Given the description of an element on the screen output the (x, y) to click on. 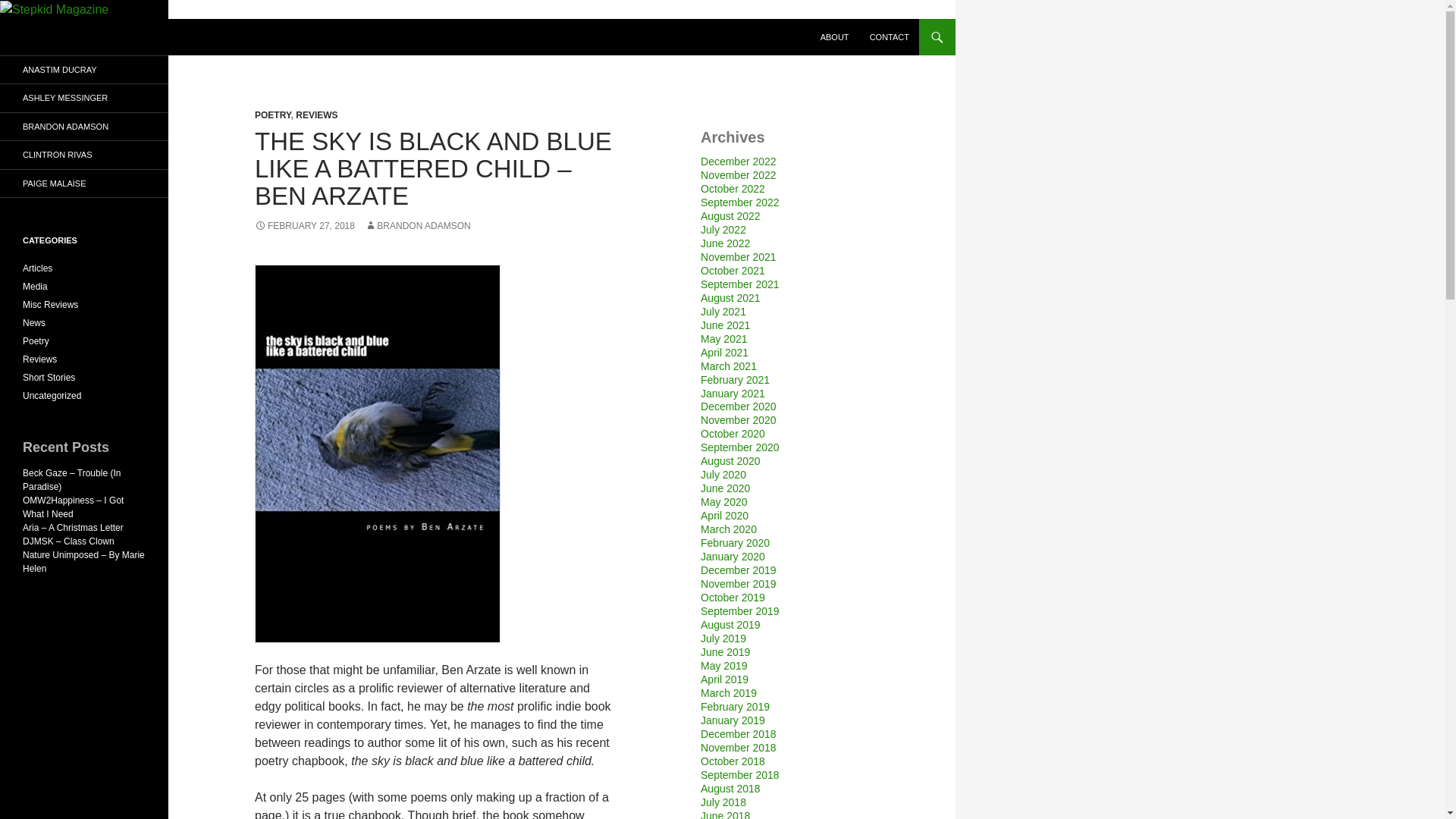
March 2021 (728, 366)
August 2022 (730, 215)
August 2021 (730, 297)
February 2021 (735, 379)
Stepkid Magazine (79, 36)
BRANDON ADAMSON (417, 225)
September 2021 (739, 284)
November 2022 (738, 174)
June 2021 (724, 325)
October 2022 (732, 188)
November 2021 (738, 256)
REVIEWS (316, 114)
CONTACT (889, 36)
July 2022 (722, 229)
